Given the description of an element on the screen output the (x, y) to click on. 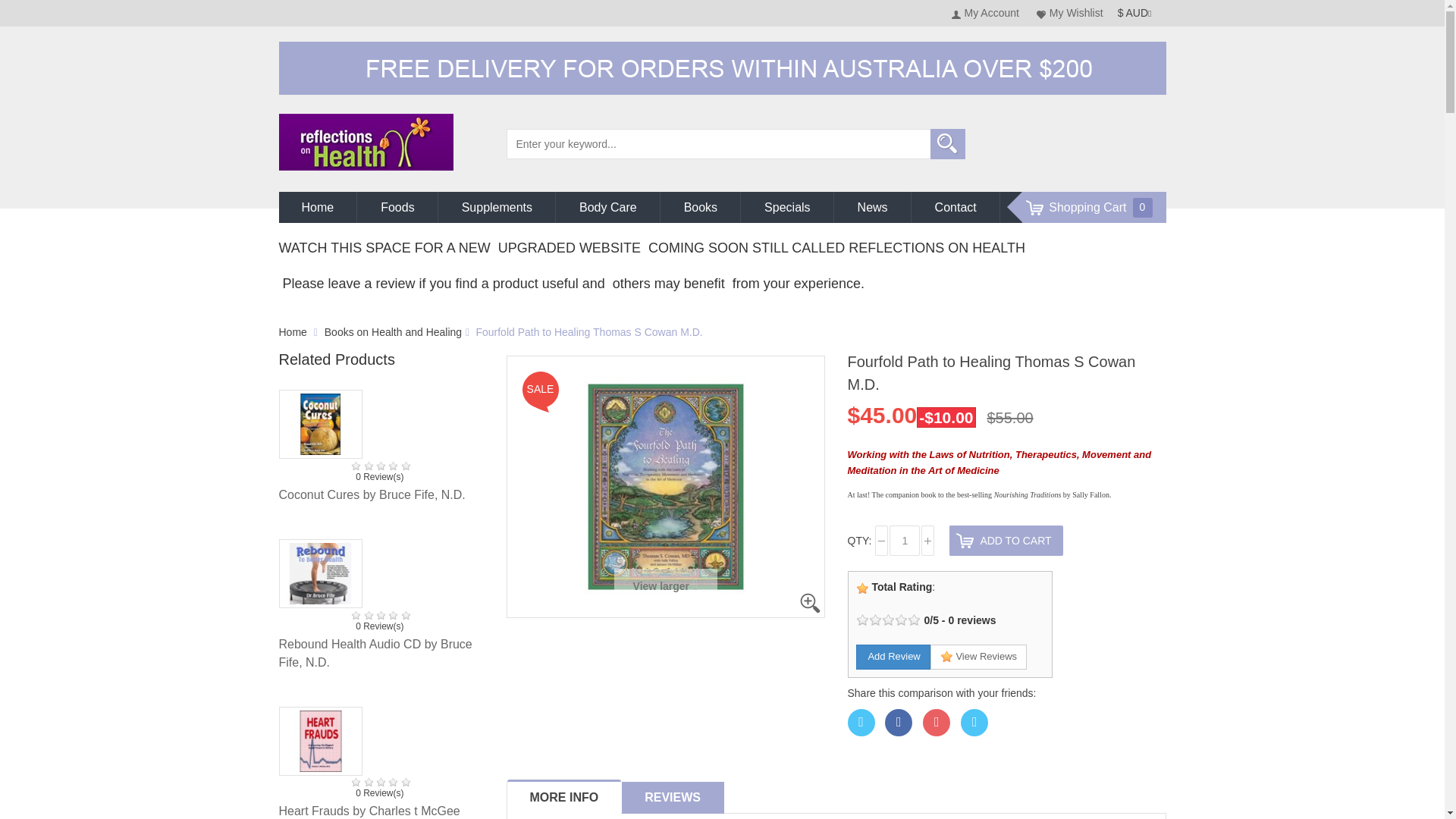
Books (700, 206)
Coconut Cures by Bruce Fife, N.D. (372, 494)
Specials (786, 206)
Reflections on Health Australia (365, 141)
Body Care (607, 206)
Contact (955, 206)
Body Care (607, 206)
Foods (397, 206)
Specials (786, 206)
Books (700, 206)
News (872, 206)
My Account (987, 12)
Contact (955, 206)
Return to Home (293, 332)
News (872, 206)
